Given the description of an element on the screen output the (x, y) to click on. 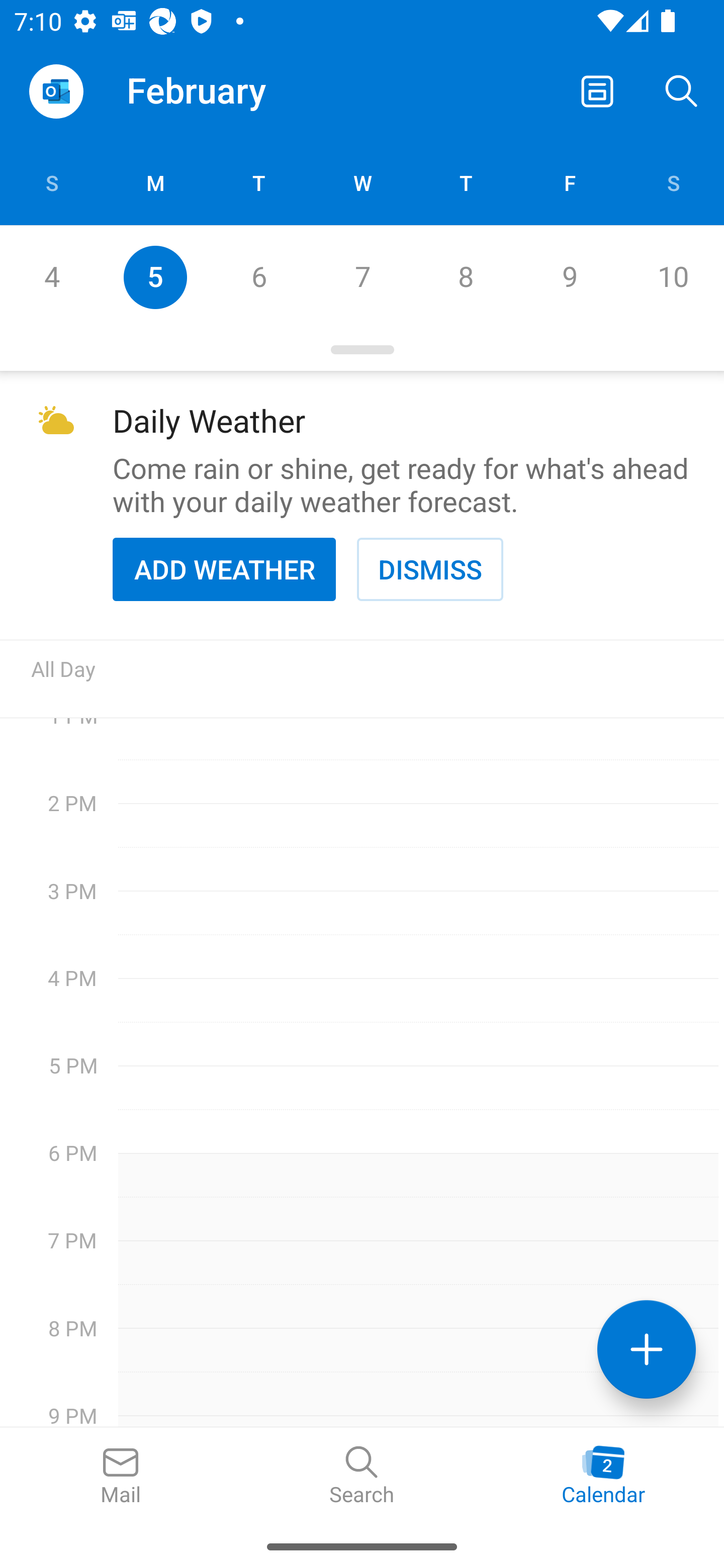
February February 2024, day picker expand (209, 90)
Switch away from Day view (597, 90)
Search (681, 90)
Open Navigation Drawer (55, 91)
4 Sunday, February 4 (51, 277)
5 Monday, February 5, Selected (155, 277)
6 Tuesday, February 6 (258, 277)
7 Wednesday, February 7 (362, 277)
8 Thursday, February 8 (465, 277)
9 Friday, February 9 (569, 277)
10 Saturday, February 10 (672, 277)
Day picker expand (362, 350)
ADD WEATHER (224, 568)
DISMISS (429, 568)
Add new event (646, 1348)
Mail (120, 1475)
Search (361, 1475)
